Given the description of an element on the screen output the (x, y) to click on. 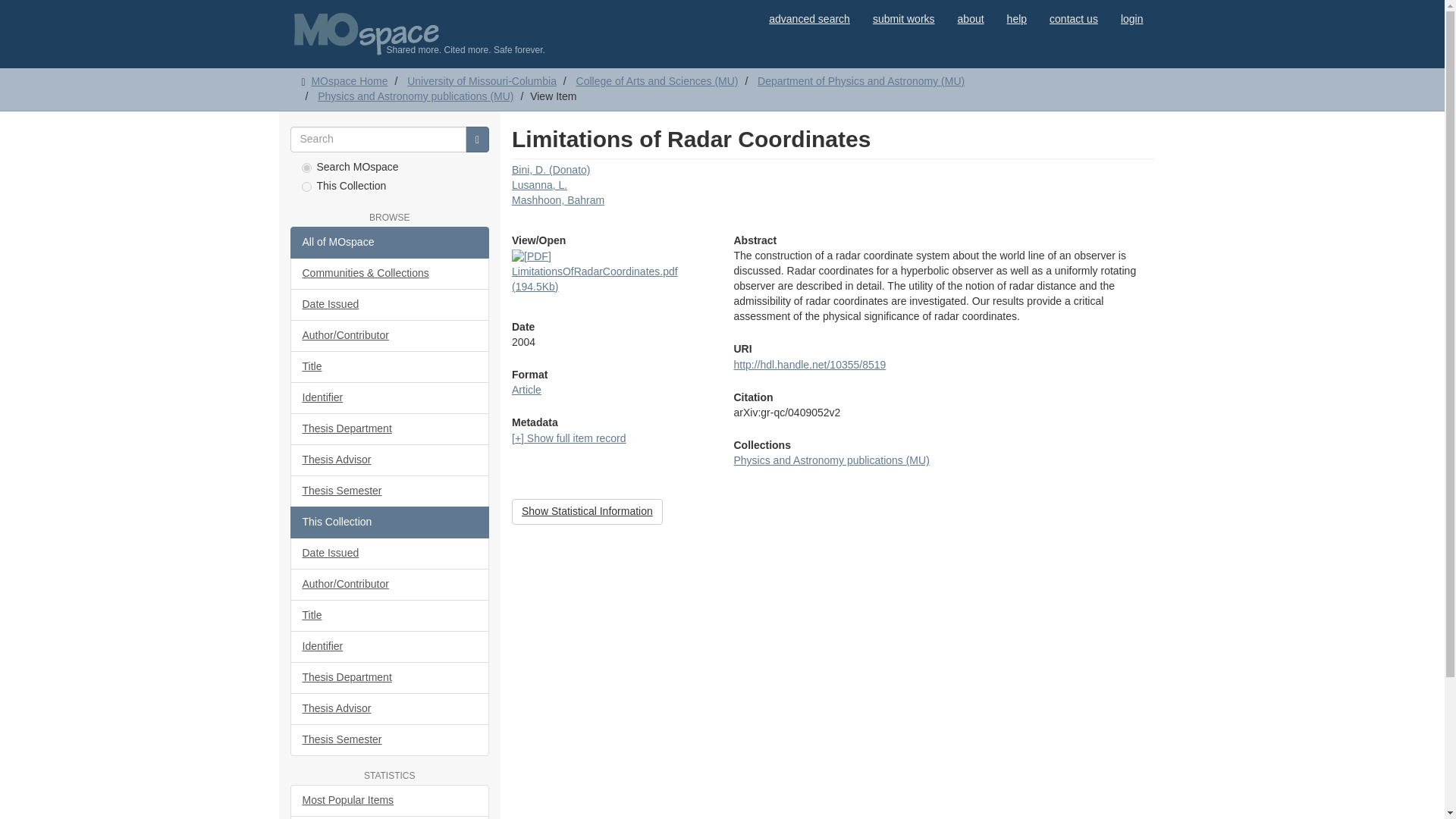
Date Issued (389, 553)
help (1016, 18)
MOspace Home (349, 80)
login (1131, 18)
Identifier (389, 398)
PDF file (531, 256)
University of Missouri-Columbia (481, 80)
Thesis Semester (389, 490)
This Collection (389, 522)
All of MOspace (389, 242)
Title (389, 367)
Thesis Advisor (389, 459)
Search (477, 139)
advanced search (809, 18)
Date Issued (389, 305)
